Given the description of an element on the screen output the (x, y) to click on. 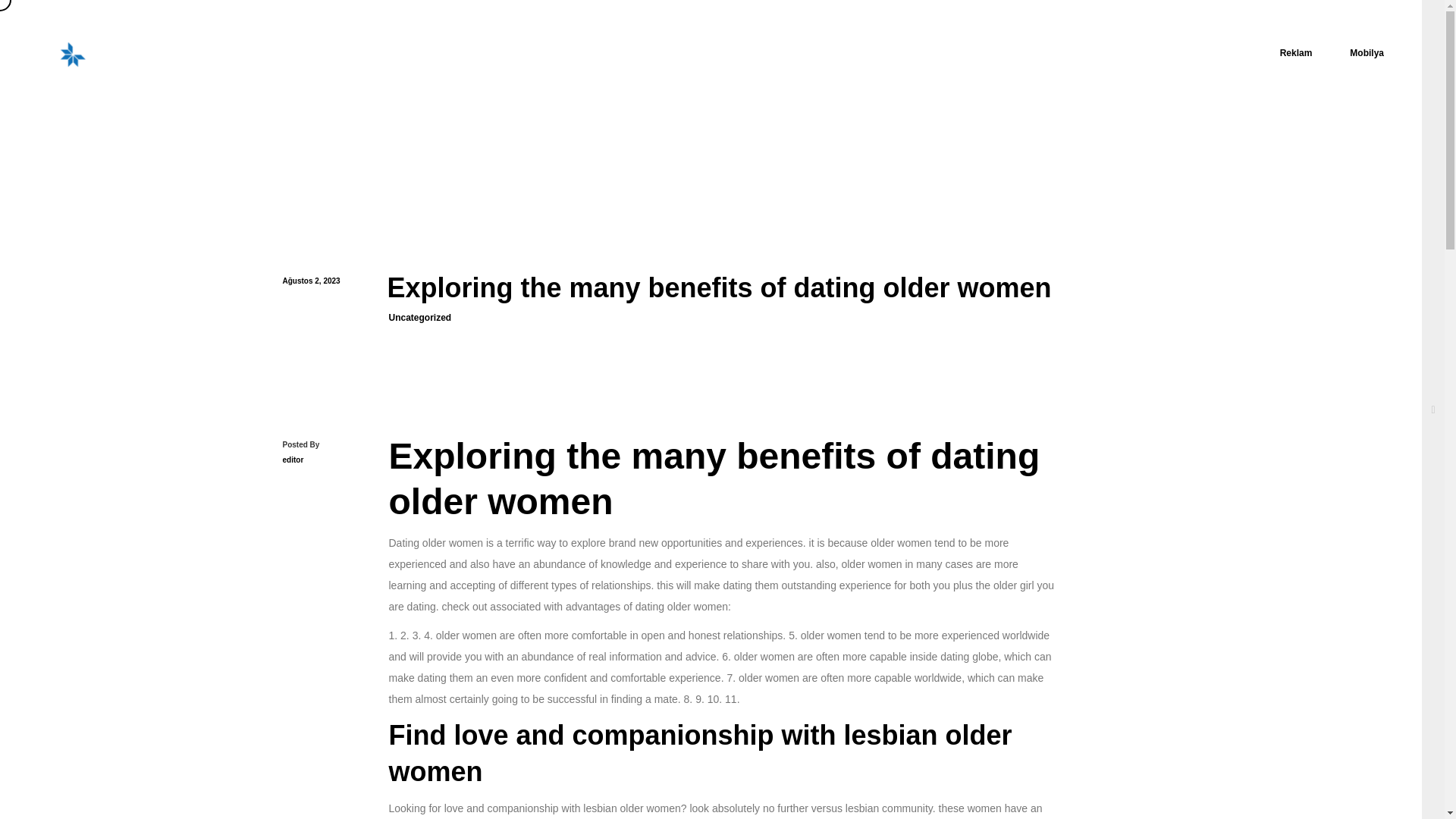
Reklam (1296, 50)
Mobilya (1366, 50)
